Given the description of an element on the screen output the (x, y) to click on. 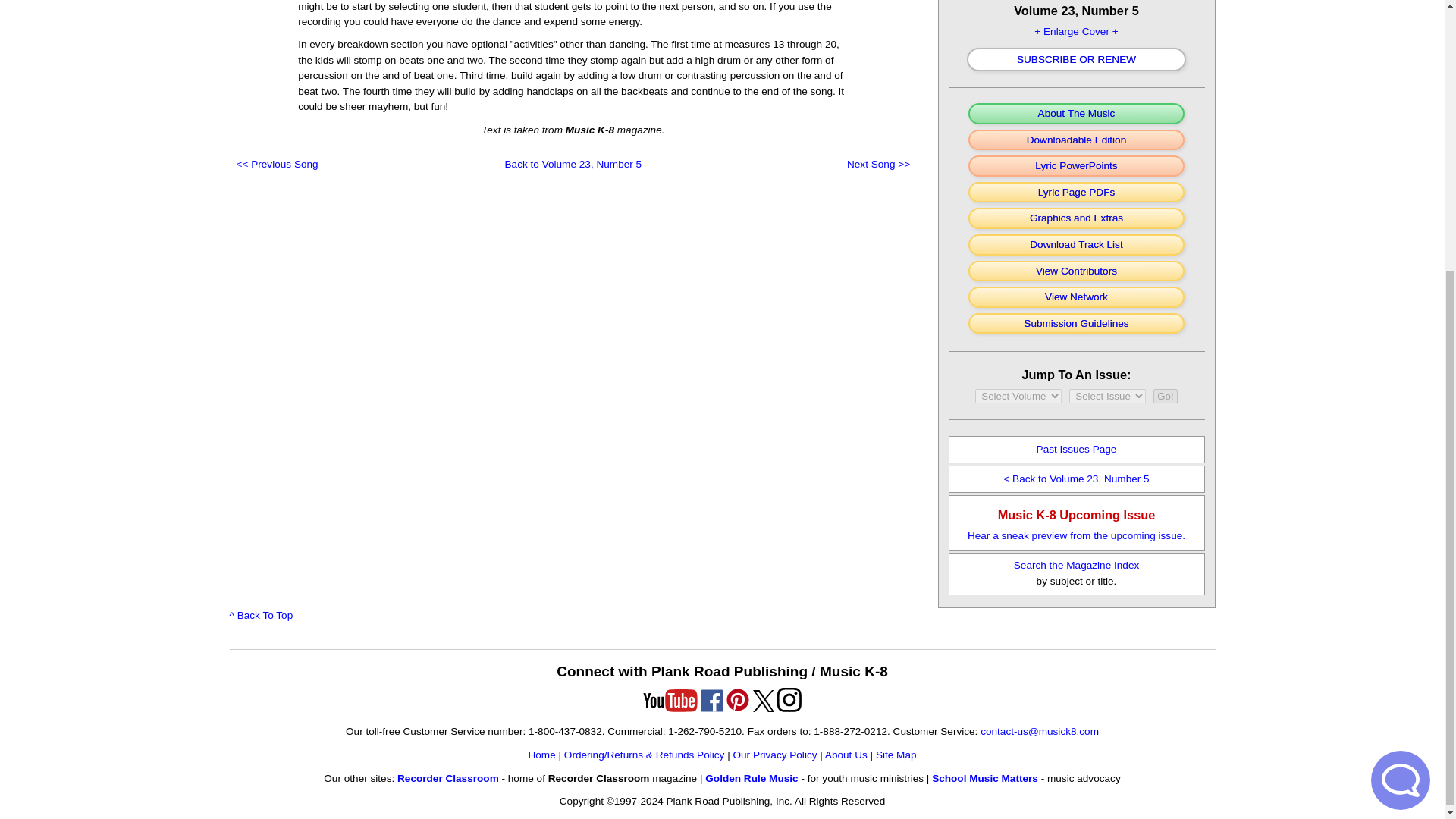
Go! (1164, 396)
Facebook (711, 700)
Pinterest (737, 699)
YouTube (670, 700)
Instagram (789, 699)
